Given the description of an element on the screen output the (x, y) to click on. 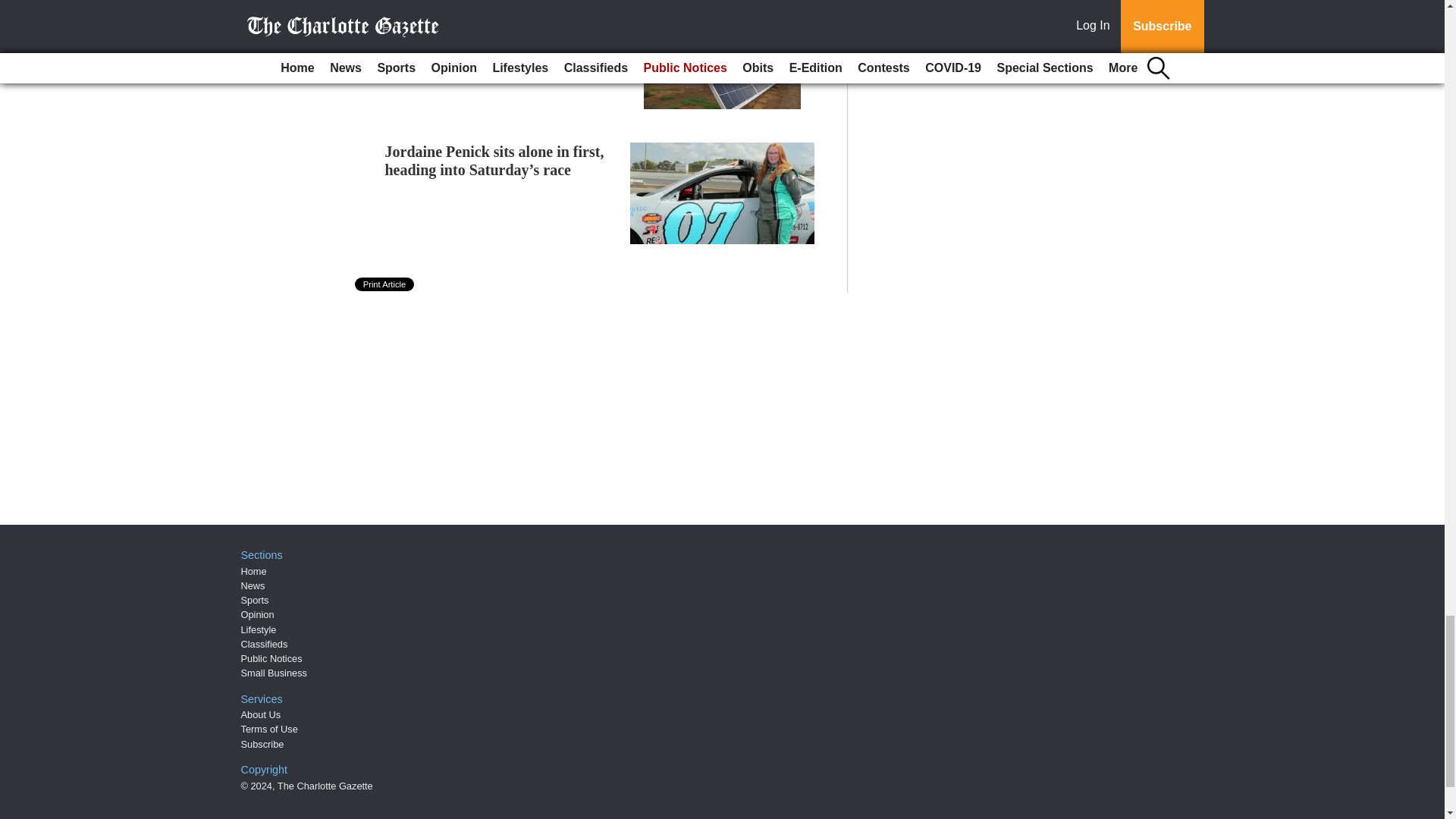
News (252, 585)
Print Article (384, 284)
Home (253, 571)
